Given the description of an element on the screen output the (x, y) to click on. 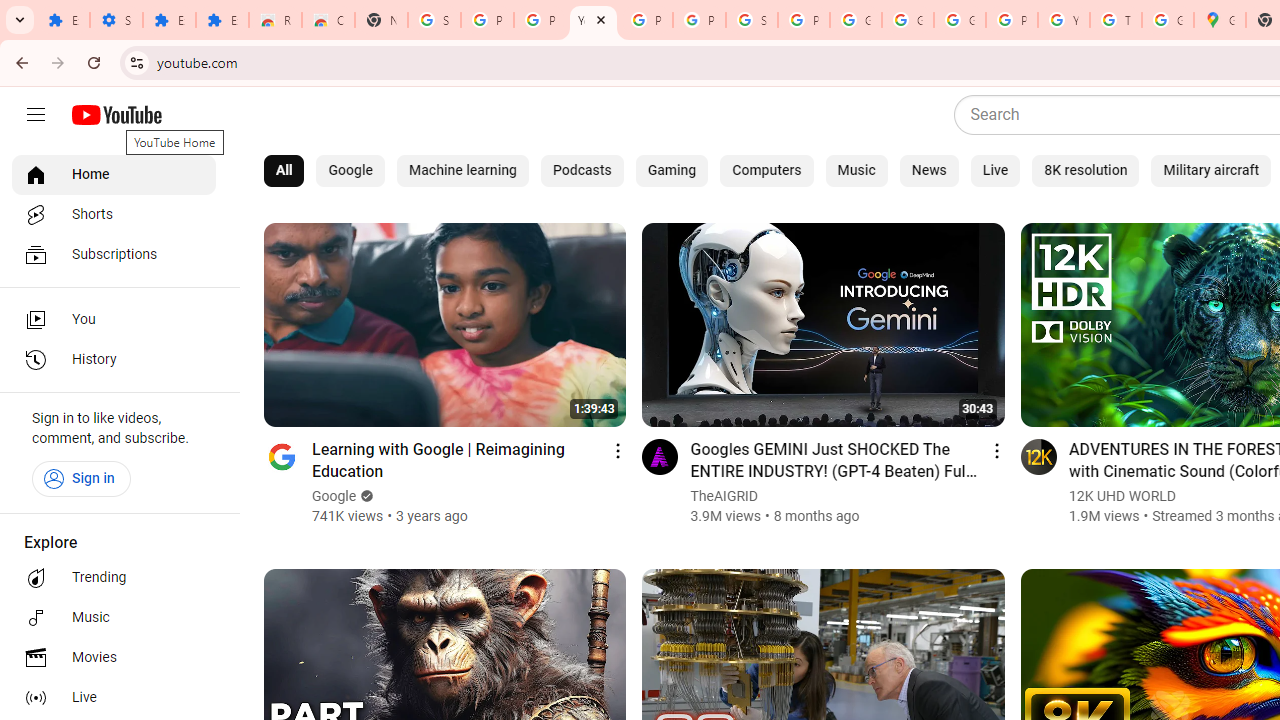
Extensions (222, 20)
Live (995, 170)
Guide (35, 115)
Google Account (907, 20)
Music (856, 170)
YouTube (593, 20)
Extensions (169, 20)
Home (113, 174)
All (283, 170)
TheAIGRID (724, 496)
Computers (766, 170)
